Given the description of an element on the screen output the (x, y) to click on. 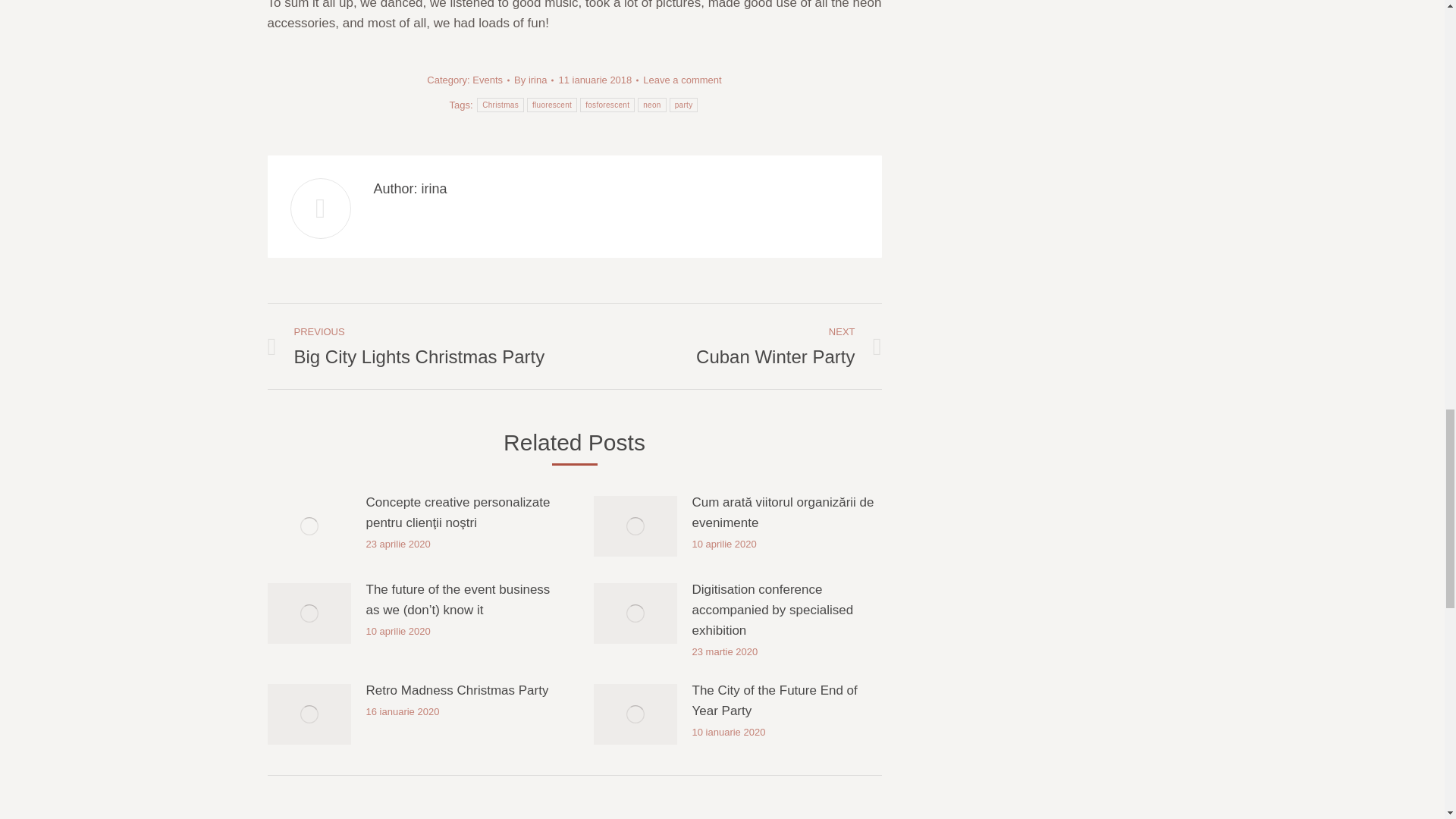
Leave a comment (681, 79)
fluorescent (551, 104)
View all posts by irina (533, 79)
party (683, 104)
11 ianuarie 2018 (598, 79)
By irina (533, 79)
8:45 (598, 79)
Christmas (500, 104)
fosforescent (606, 104)
neon (651, 104)
Events (486, 79)
